Given the description of an element on the screen output the (x, y) to click on. 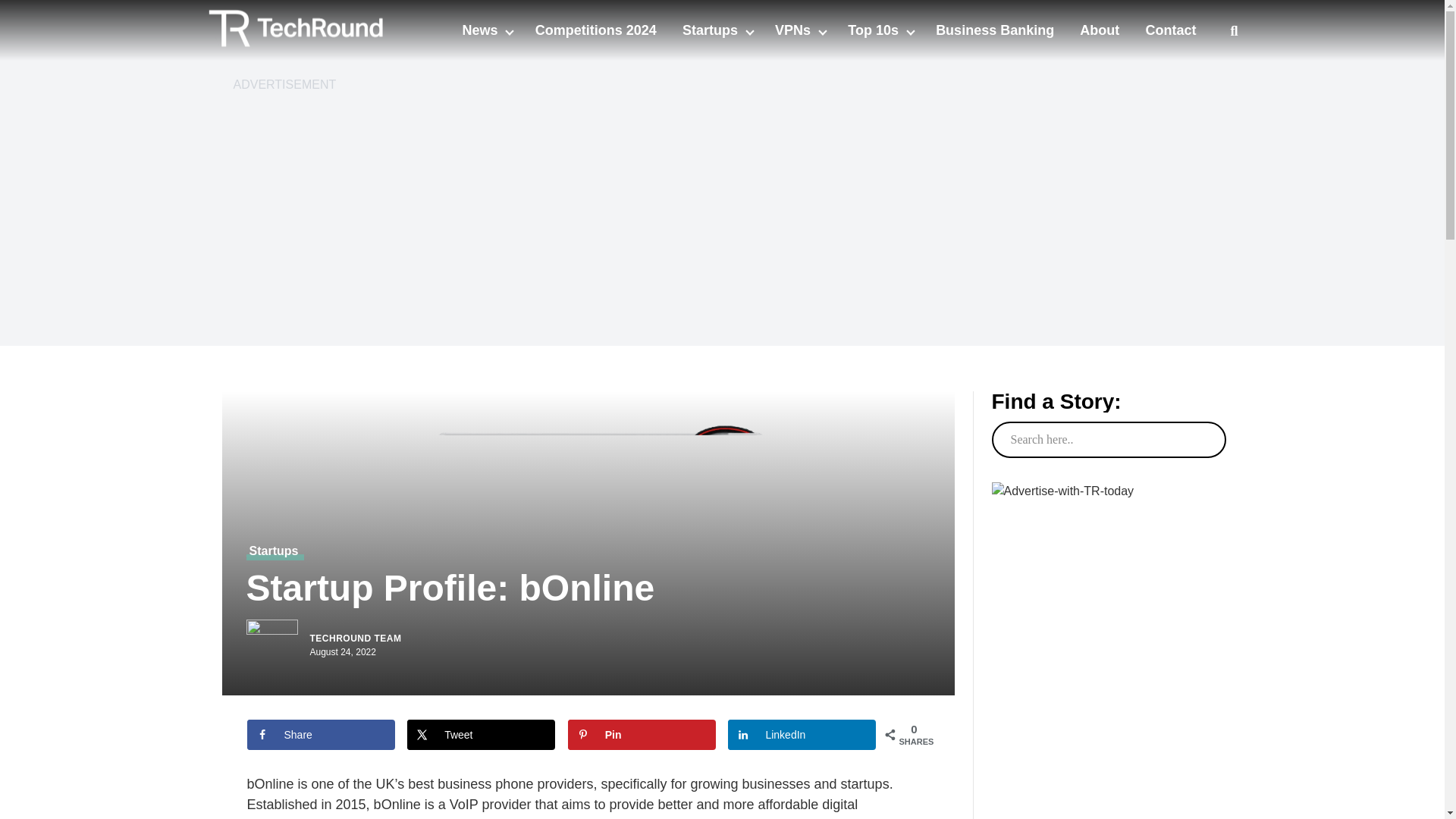
Share on X (480, 734)
VPNs (793, 30)
Top 10s (874, 30)
Save to Pinterest (641, 734)
Share on Facebook (320, 734)
News (480, 30)
Startups (711, 30)
Competitions 2024 (596, 30)
Share on LinkedIn (802, 734)
